Given the description of an element on the screen output the (x, y) to click on. 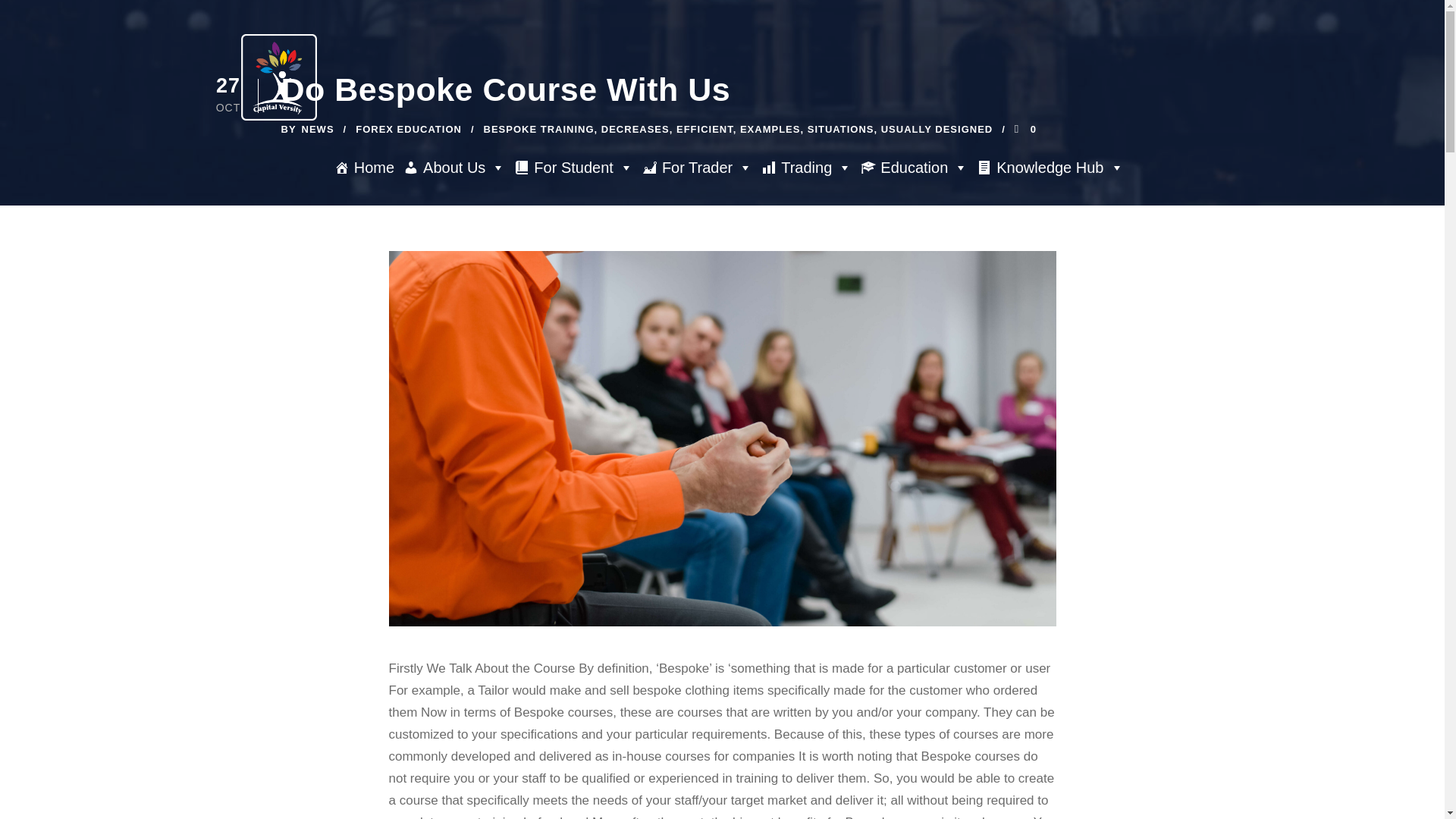
Posts by News (317, 129)
